Given the description of an element on the screen output the (x, y) to click on. 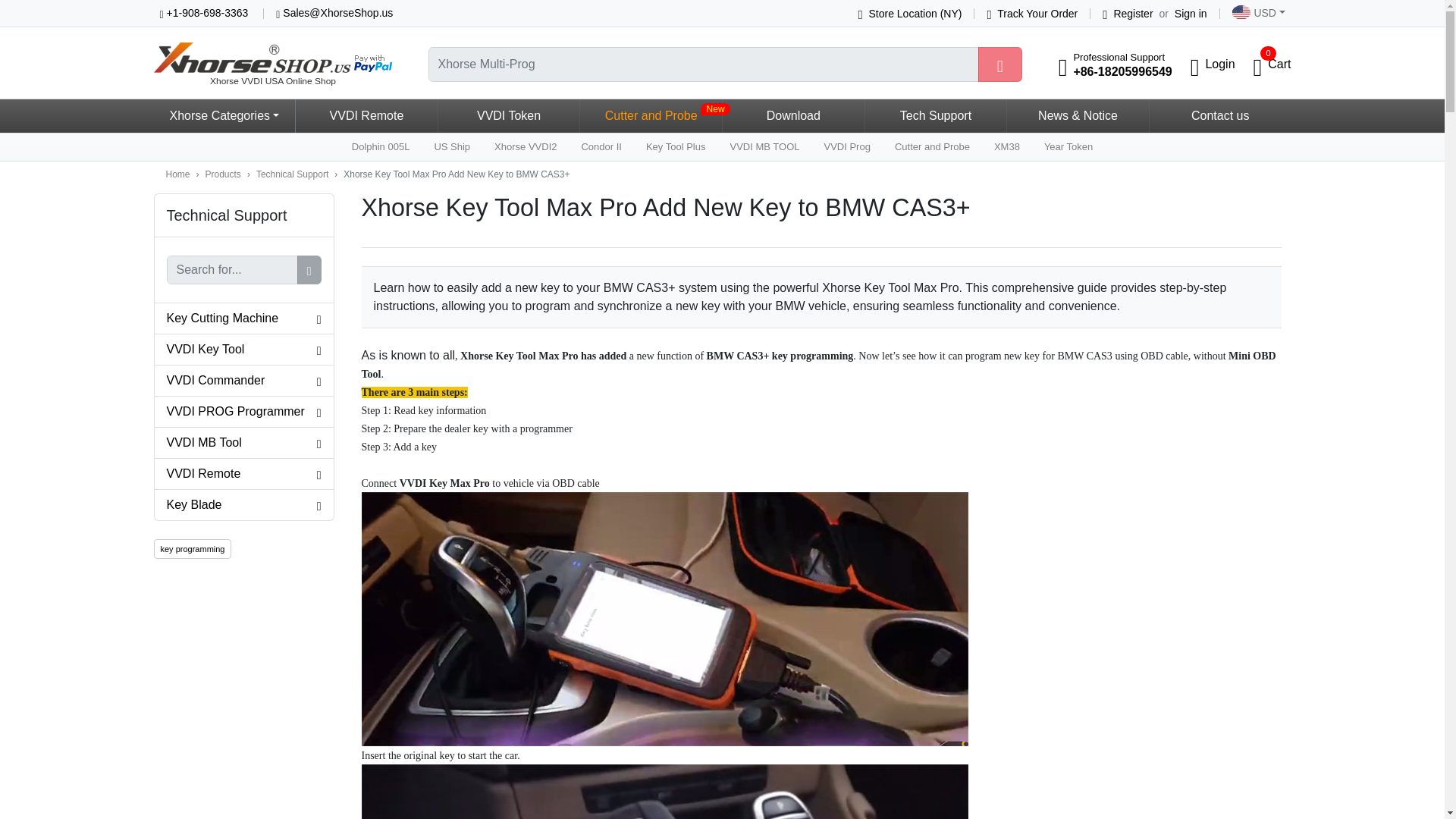
Register (1127, 13)
Sign in (1190, 13)
Track Your Order (1032, 13)
Xhorse VVDI USA Online Shop (1272, 63)
Login (271, 64)
USD (1222, 63)
Xhorse Categories (1255, 13)
